Given the description of an element on the screen output the (x, y) to click on. 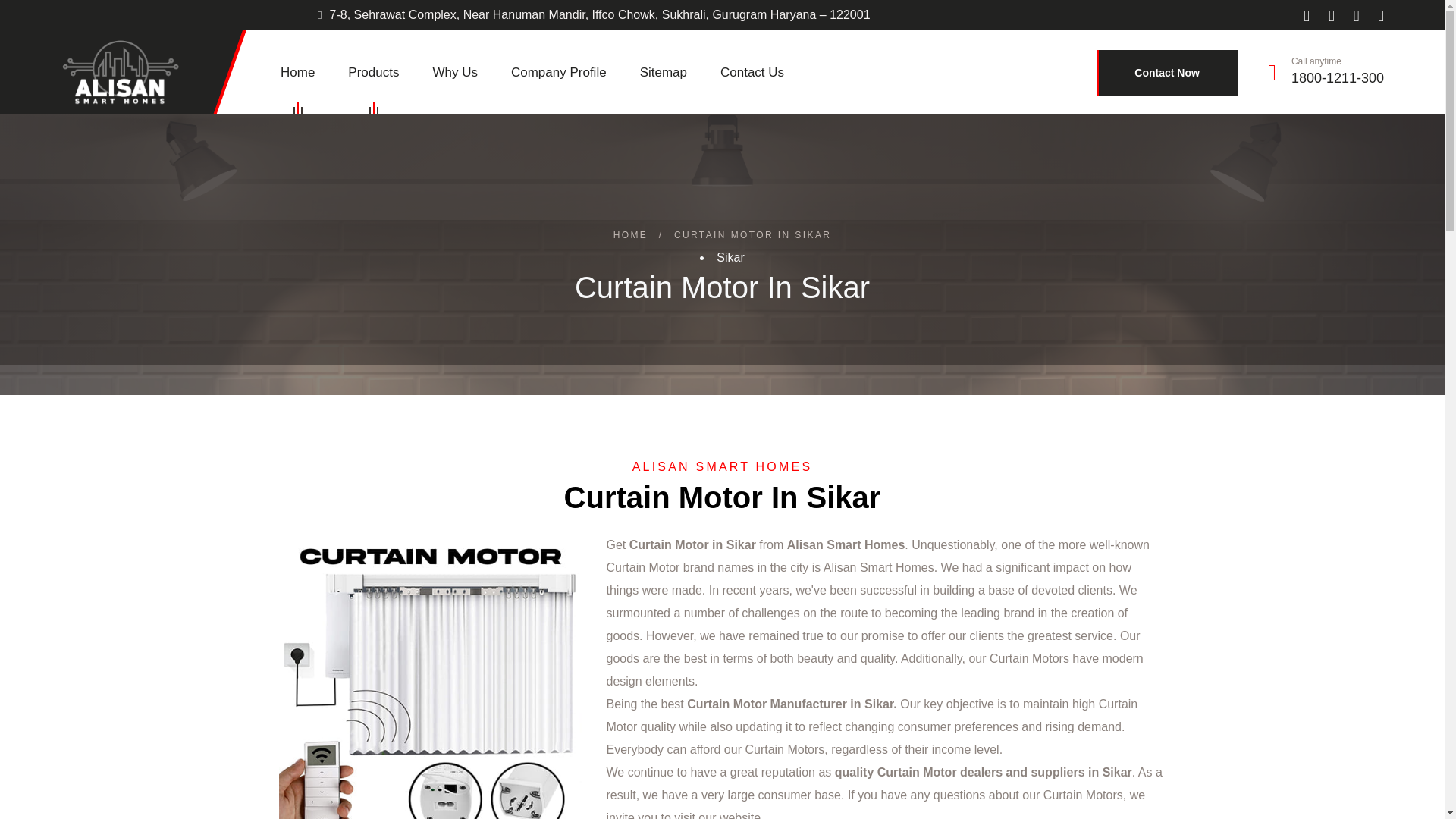
Contact Now (1166, 72)
Contact Us (752, 72)
1800-1211-300 (1337, 77)
Company Profile (559, 72)
Products (372, 72)
Home (297, 72)
Alisan Smart Homes (120, 71)
Sitemap (663, 72)
Why Us (454, 72)
Curtain Motor In Sikar (430, 676)
